Given the description of an element on the screen output the (x, y) to click on. 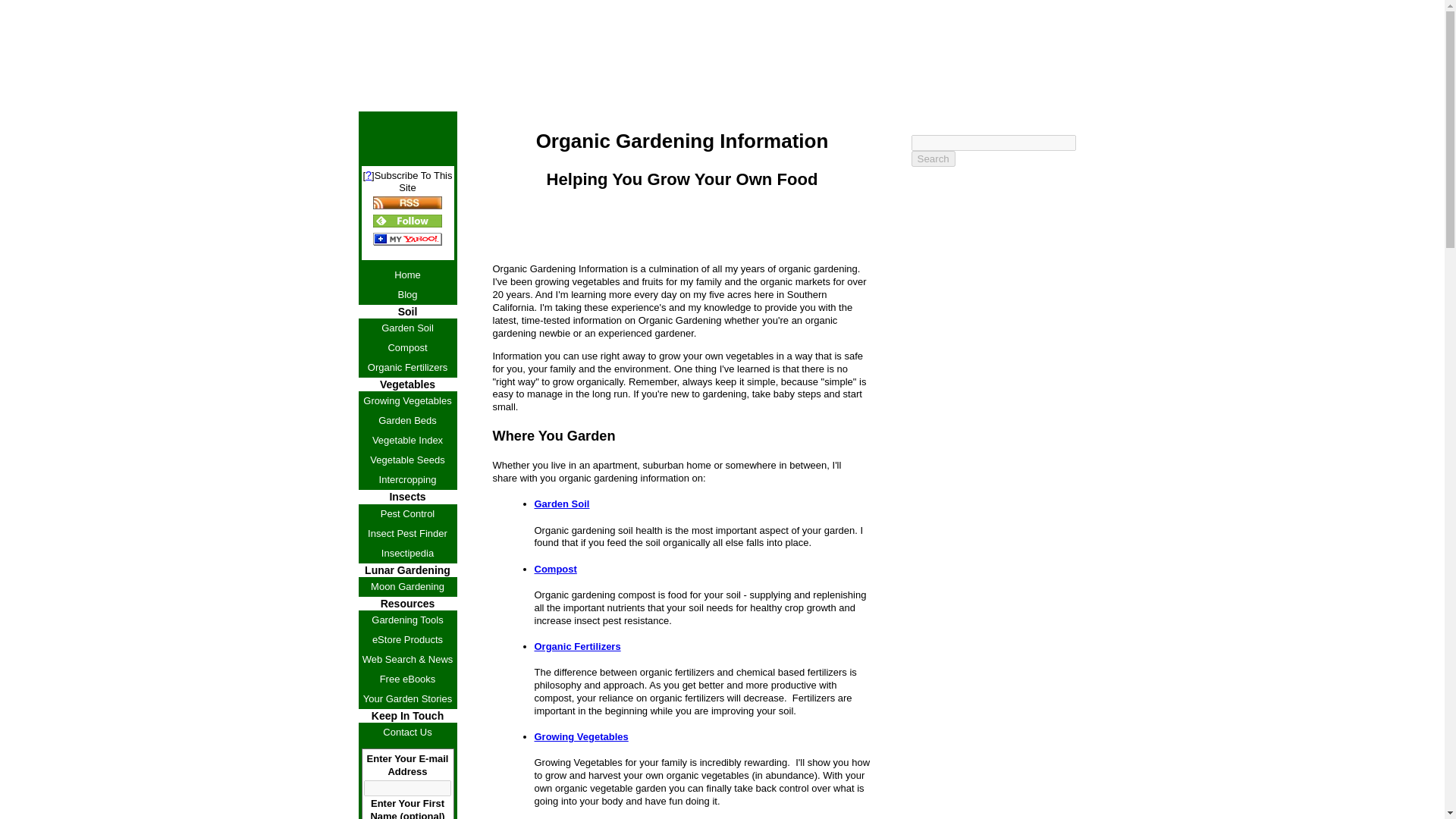
Gardening Tools (407, 619)
Garden Soil (561, 503)
Blog (407, 294)
Garden Soil (407, 328)
Growing Vegetables (407, 401)
Organic Fertilizers (407, 367)
Vegetable Seeds (407, 460)
Moon Gardening (407, 587)
eStore Products (407, 639)
Home (407, 275)
Organic Fertilizers (577, 645)
Your Garden Stories (407, 699)
Vegetable Index (407, 440)
Garden Beds (407, 420)
Contact Us (407, 732)
